Given the description of an element on the screen output the (x, y) to click on. 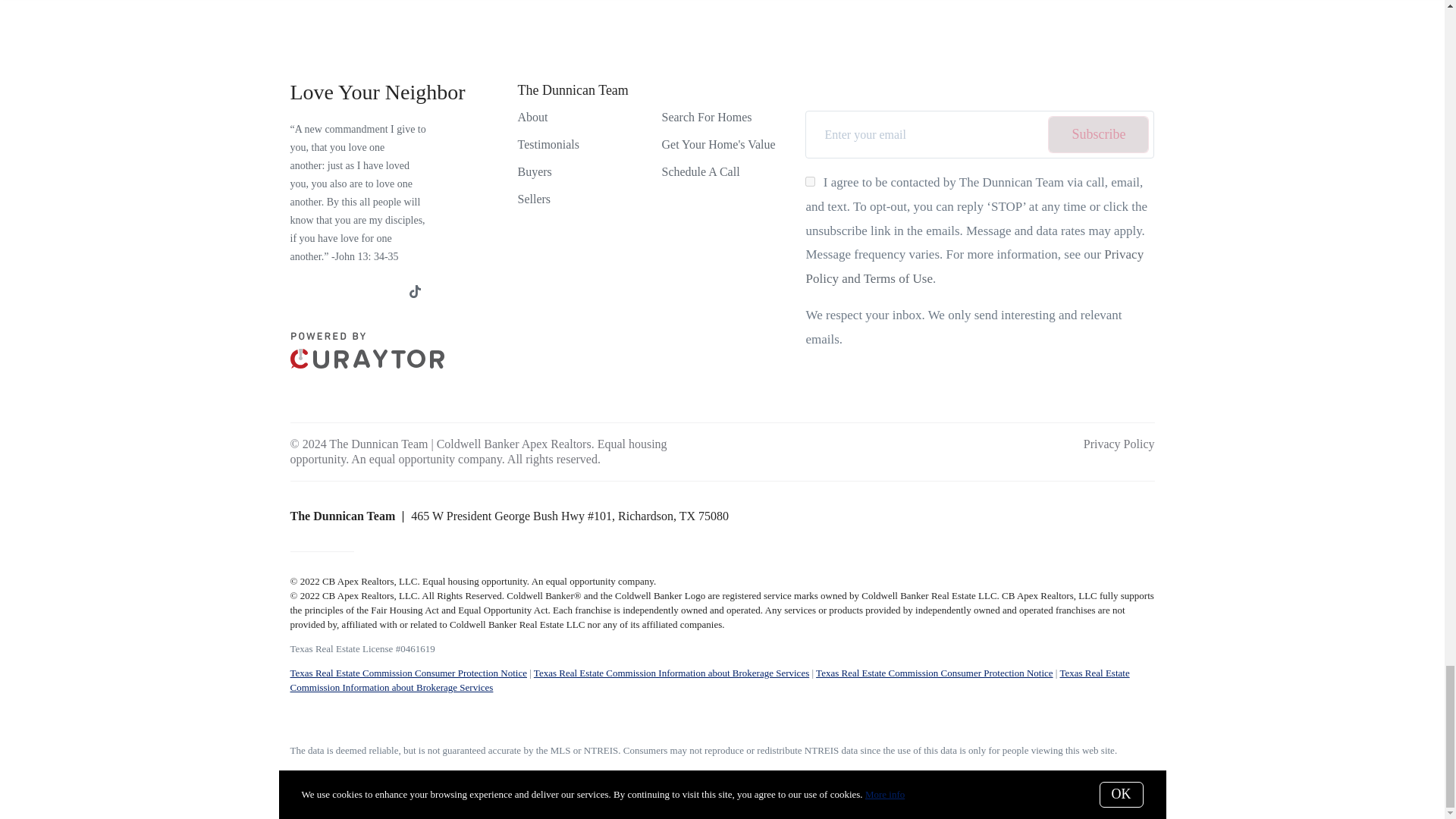
curaytor-horizontal (366, 364)
curaytor-horizontal (366, 350)
on (810, 181)
Testimonials (547, 144)
Sellers (533, 198)
Buyers (533, 171)
About (531, 116)
